Given the description of an element on the screen output the (x, y) to click on. 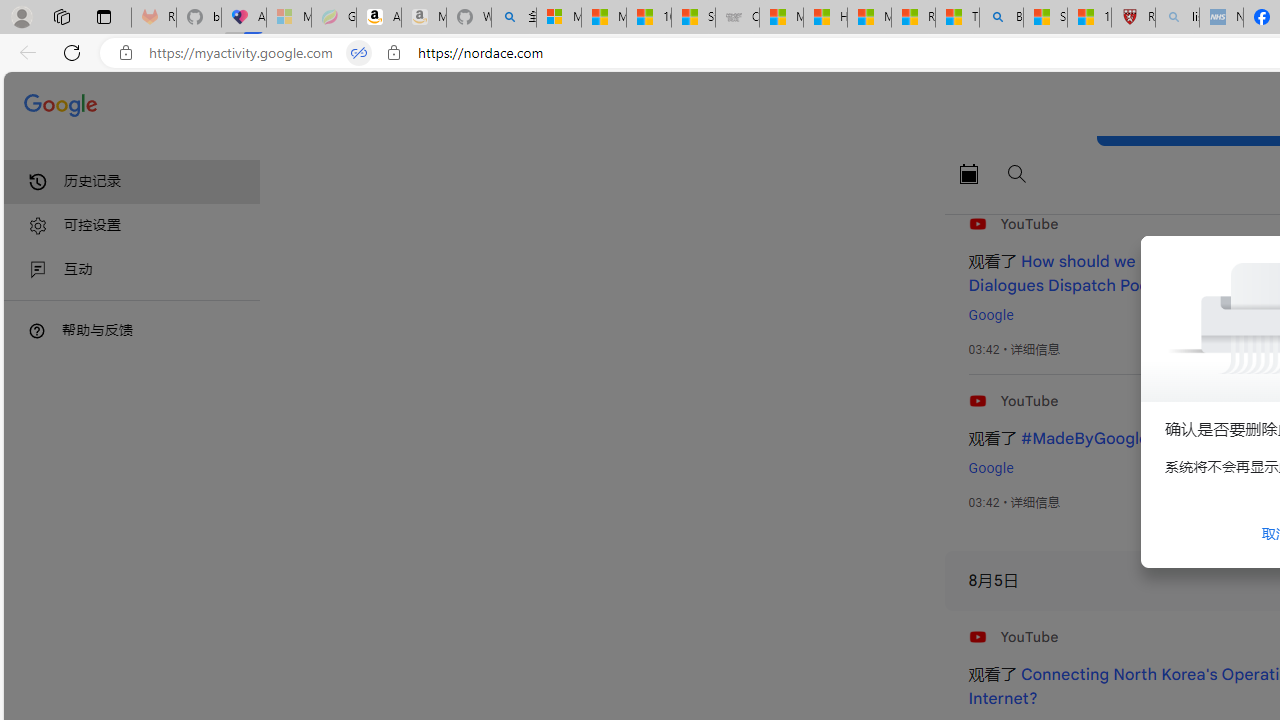
Tabs in split screen (358, 53)
